Given the description of an element on the screen output the (x, y) to click on. 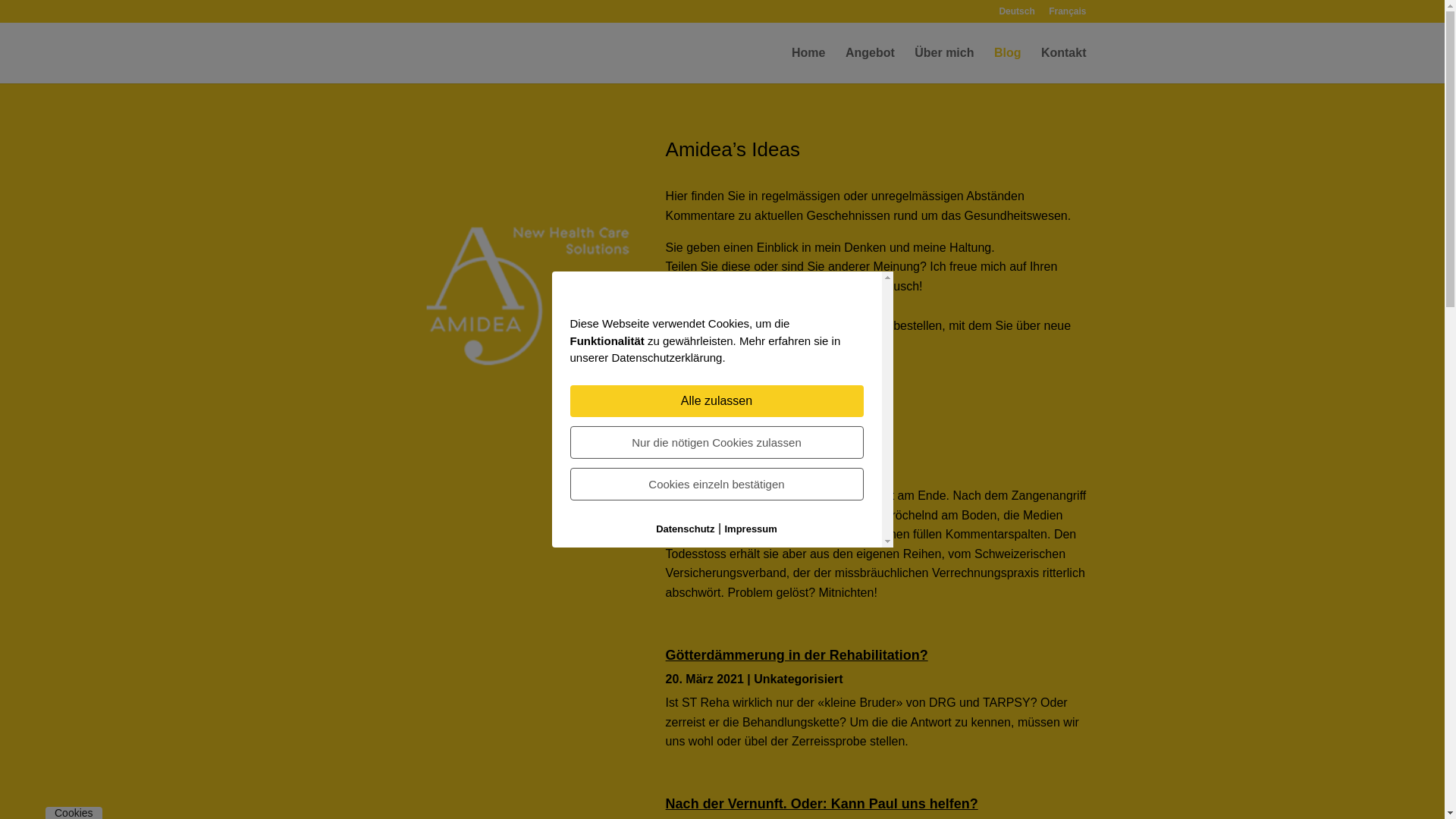
Unkategorisiert Element type: text (816, 471)
Kontakt Element type: text (1063, 65)
Home Element type: text (808, 65)
Blog Element type: text (1007, 65)
Impressum Element type: text (750, 527)
Datenschutz Element type: text (684, 527)
Alle zulassen Element type: text (716, 400)
Newsletter abonnieren Element type: text (747, 389)
Unkategorisiert Element type: text (797, 678)
Deutsch Element type: text (1016, 14)
Angebot Element type: text (869, 65)
Rettet den Luxus! Element type: text (723, 447)
Nach der Vernunft. Oder: Kann Paul uns helfen? Element type: text (821, 803)
